Given the description of an element on the screen output the (x, y) to click on. 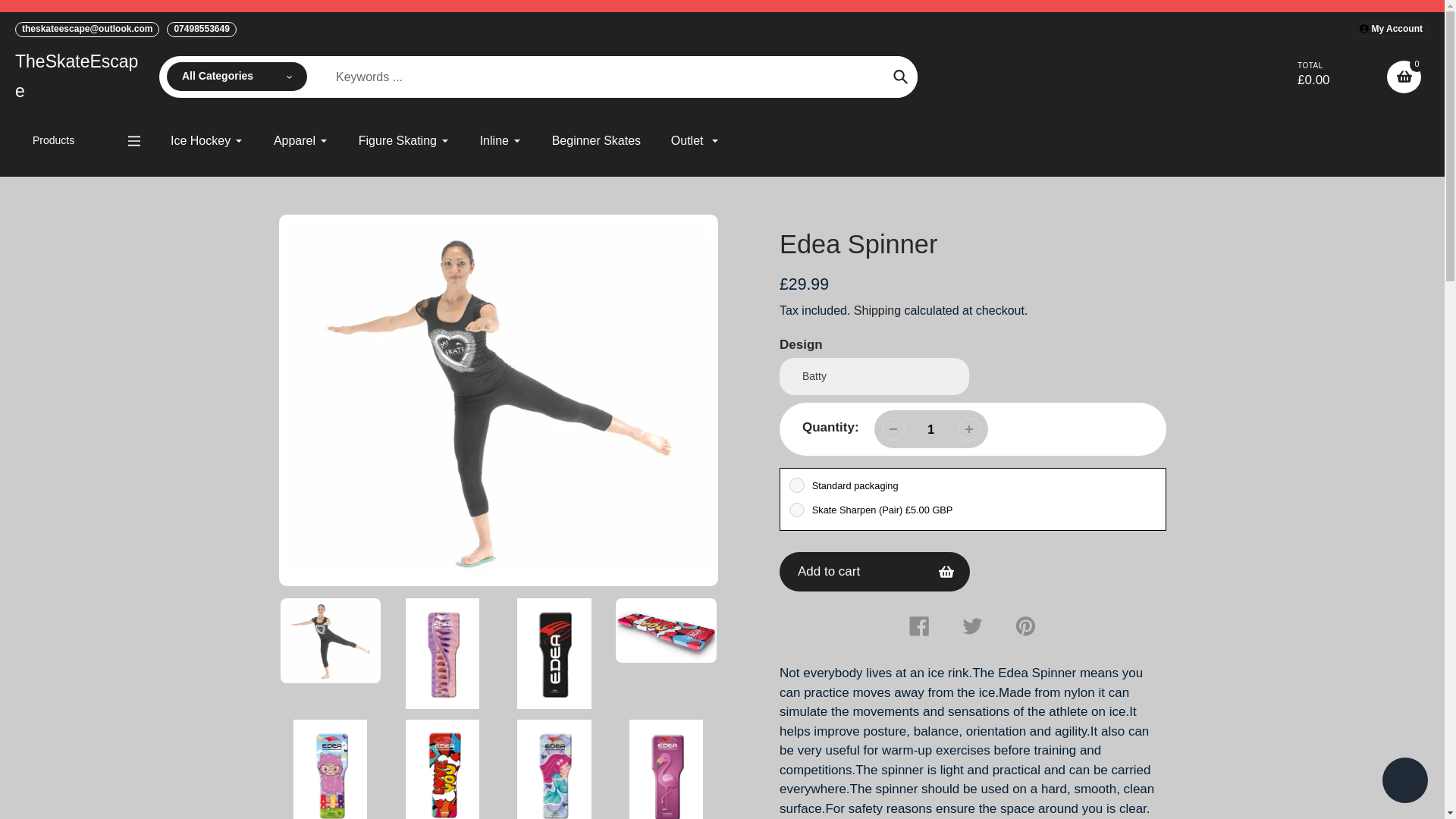
Products (84, 140)
TheSkateEscape (81, 76)
40717471187059 (797, 509)
My Account (1390, 29)
07498553649 (201, 29)
All Categories (237, 76)
0 (1404, 76)
1 (931, 429)
0 (797, 485)
